Given the description of an element on the screen output the (x, y) to click on. 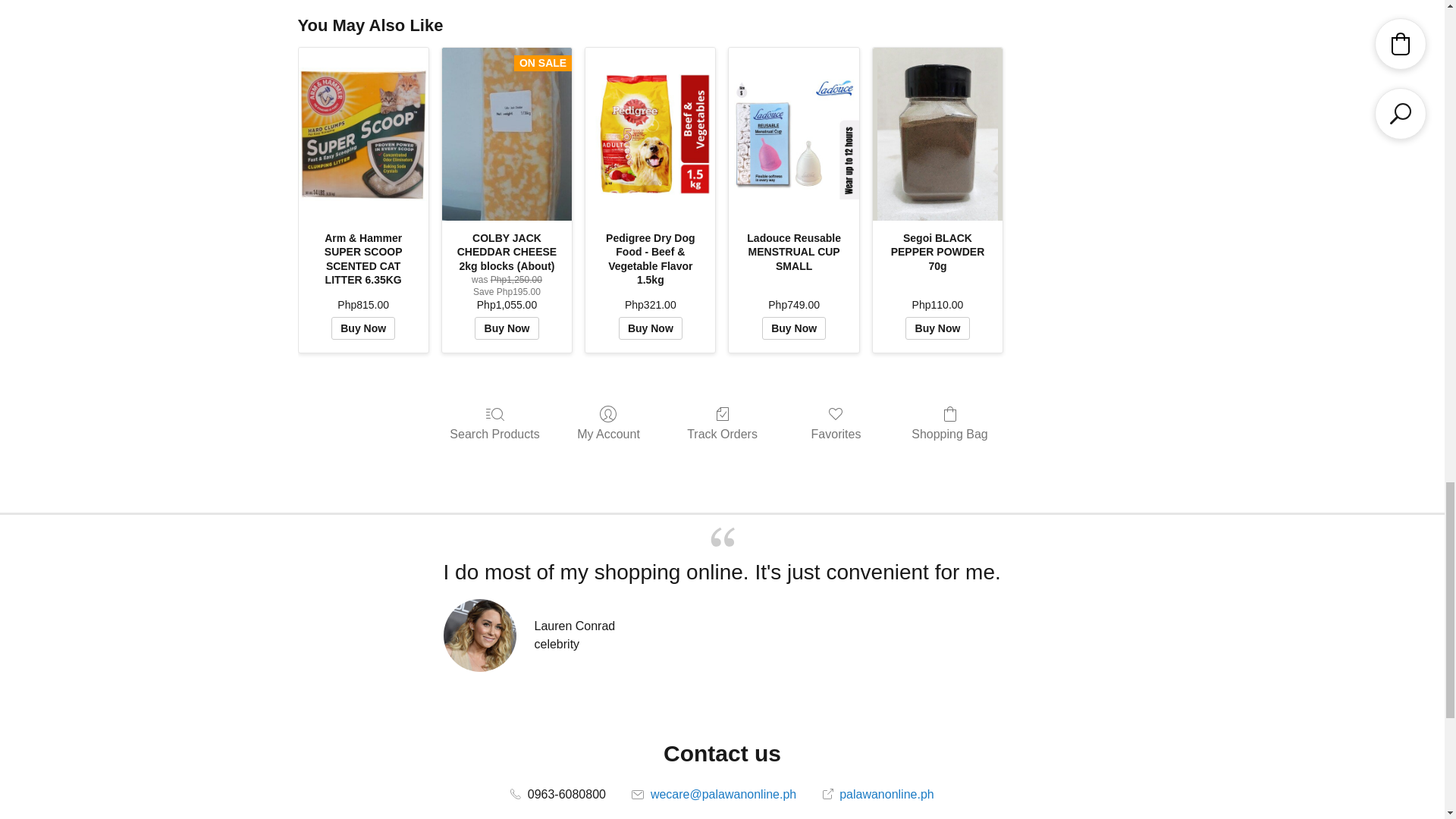
Ladouce Reusable MENSTRUAL CUP SMALL (794, 133)
